Given the description of an element on the screen output the (x, y) to click on. 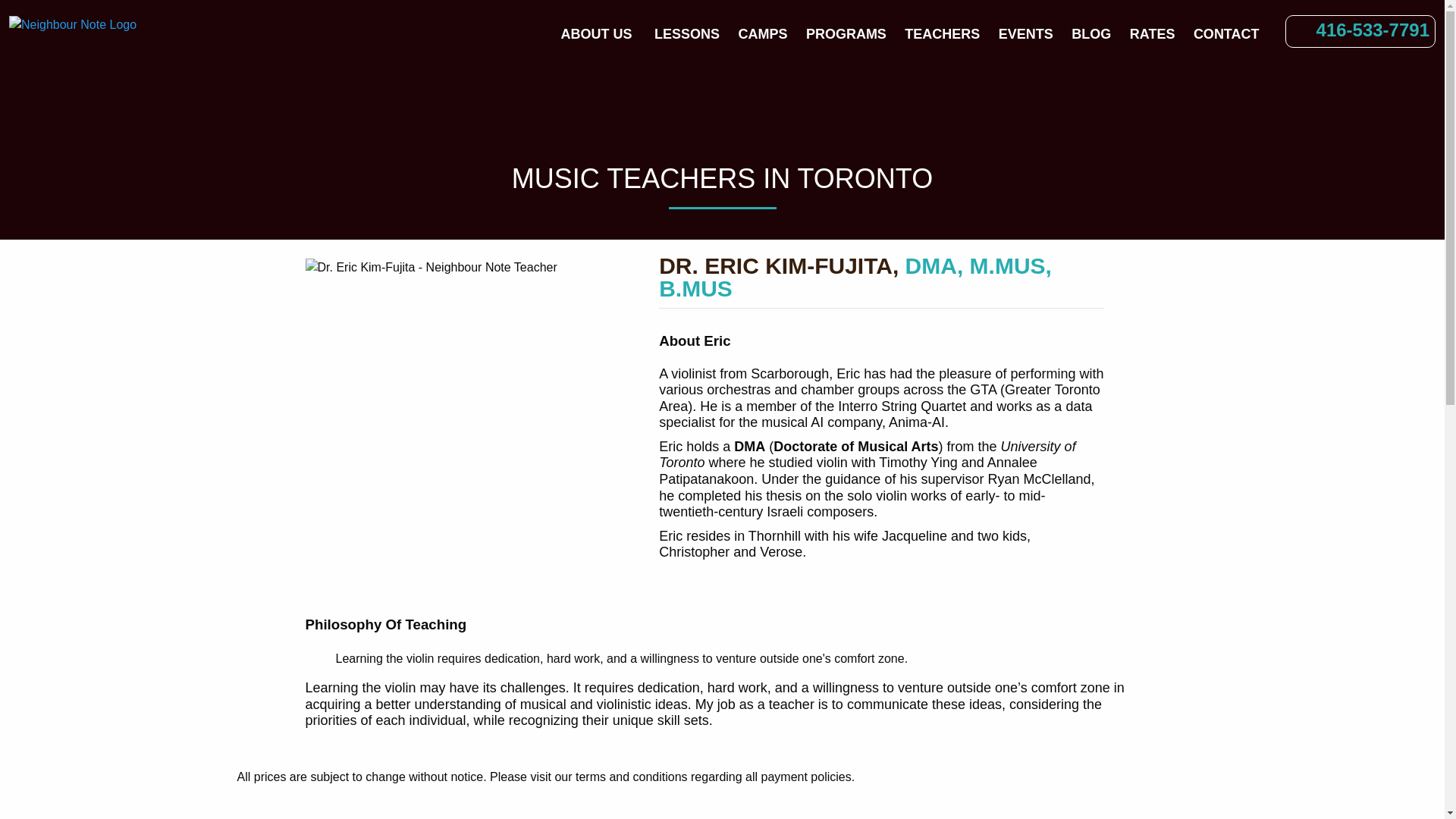
EVENTS (1026, 33)
ABOUT US (596, 33)
RATES (1152, 33)
PROGRAMS (845, 33)
TEACHERS (941, 33)
CAMPS (762, 33)
416-533-7791 (1372, 29)
LESSONS (686, 33)
CONTACT (1226, 33)
BLOG (1091, 33)
